Given the description of an element on the screen output the (x, y) to click on. 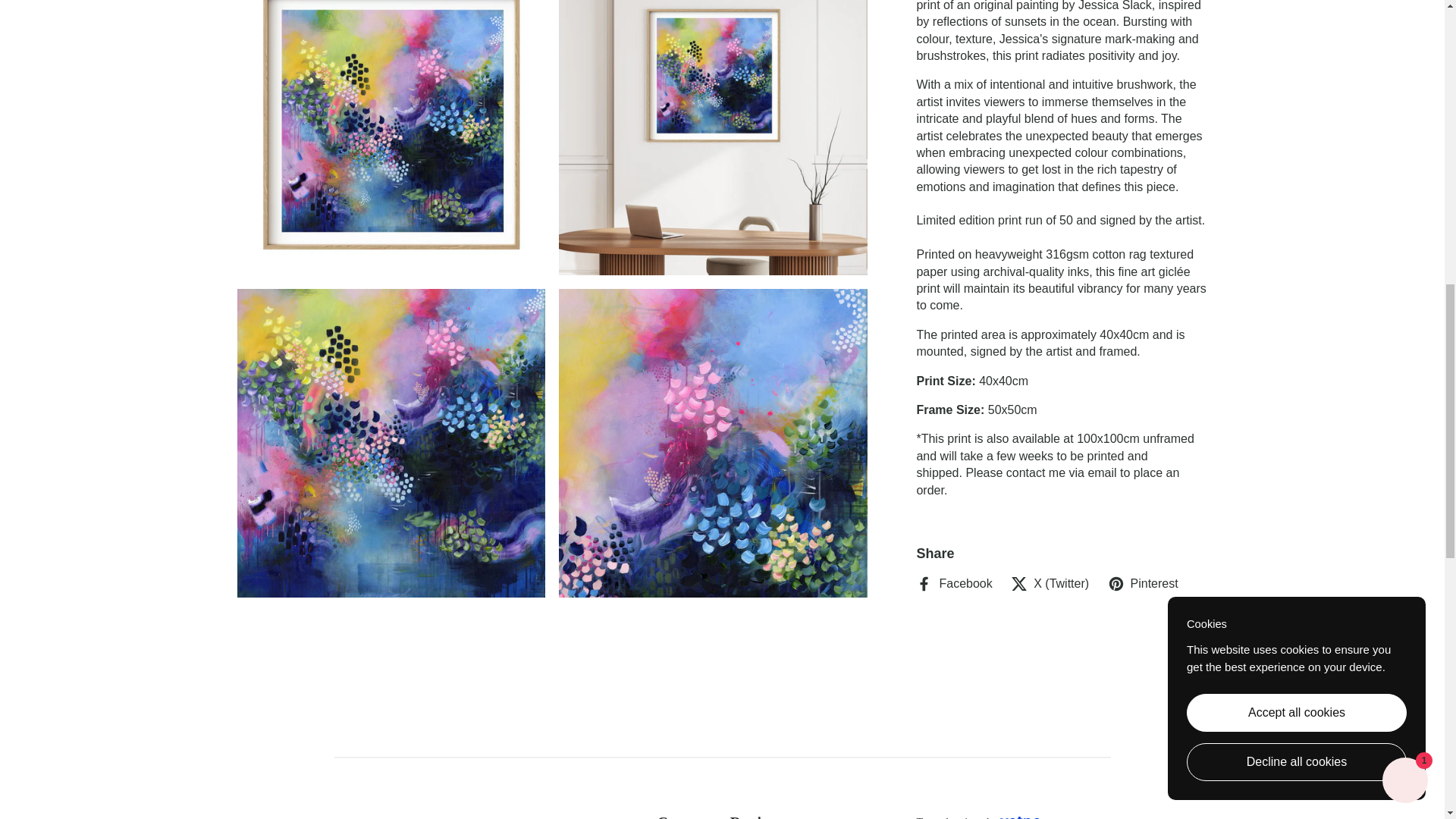
Share on facebook (953, 583)
Share on X (1049, 583)
Share on pinterest (1142, 583)
